Given the description of an element on the screen output the (x, y) to click on. 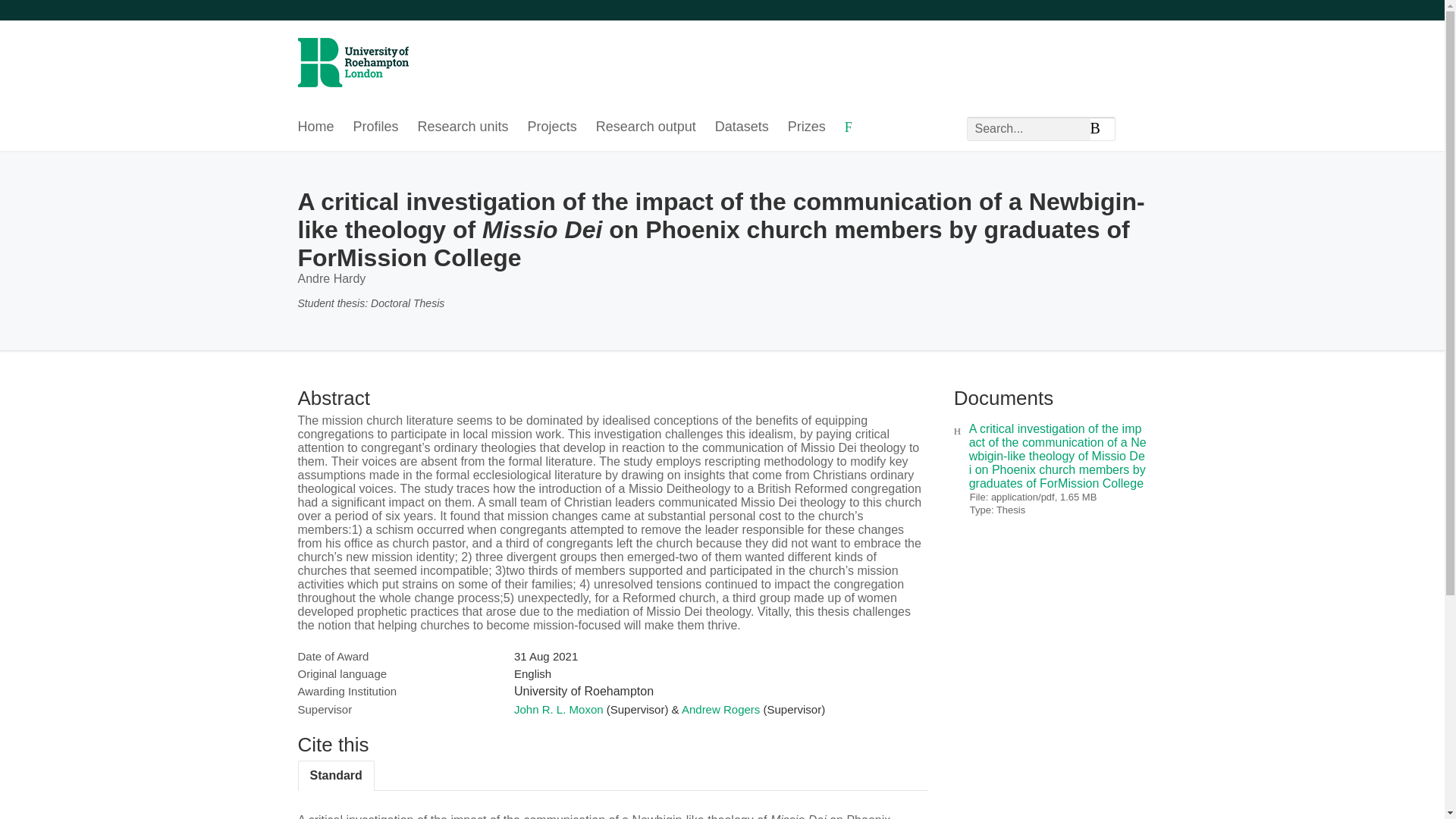
Research output (645, 127)
Andrew Rogers (720, 708)
Profiles (375, 127)
Datasets (741, 127)
John R. L. Moxon (558, 708)
University of Roehampton Research Explorer Home (352, 52)
Projects (551, 127)
Research units (462, 127)
